Given the description of an element on the screen output the (x, y) to click on. 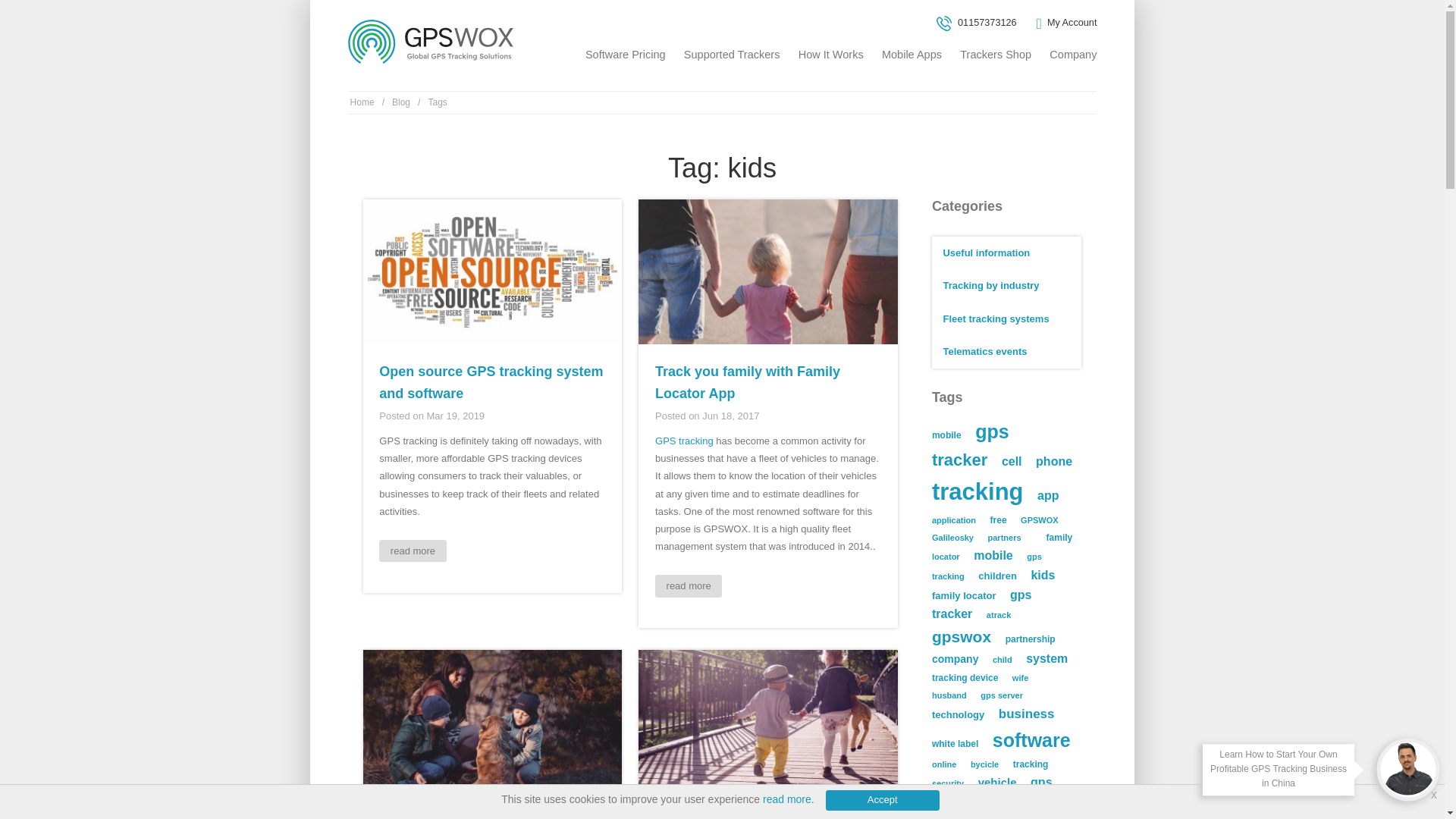
Supported Trackers (732, 55)
Software Pricing (625, 55)
GPS tracking server, software, system (432, 41)
Company (1072, 55)
Keep your family safe with GPS tracking apps (480, 816)
How It Works (830, 55)
How It Works (830, 55)
Company (1072, 55)
Mobile Apps (912, 55)
My Account (1065, 22)
